Given the description of an element on the screen output the (x, y) to click on. 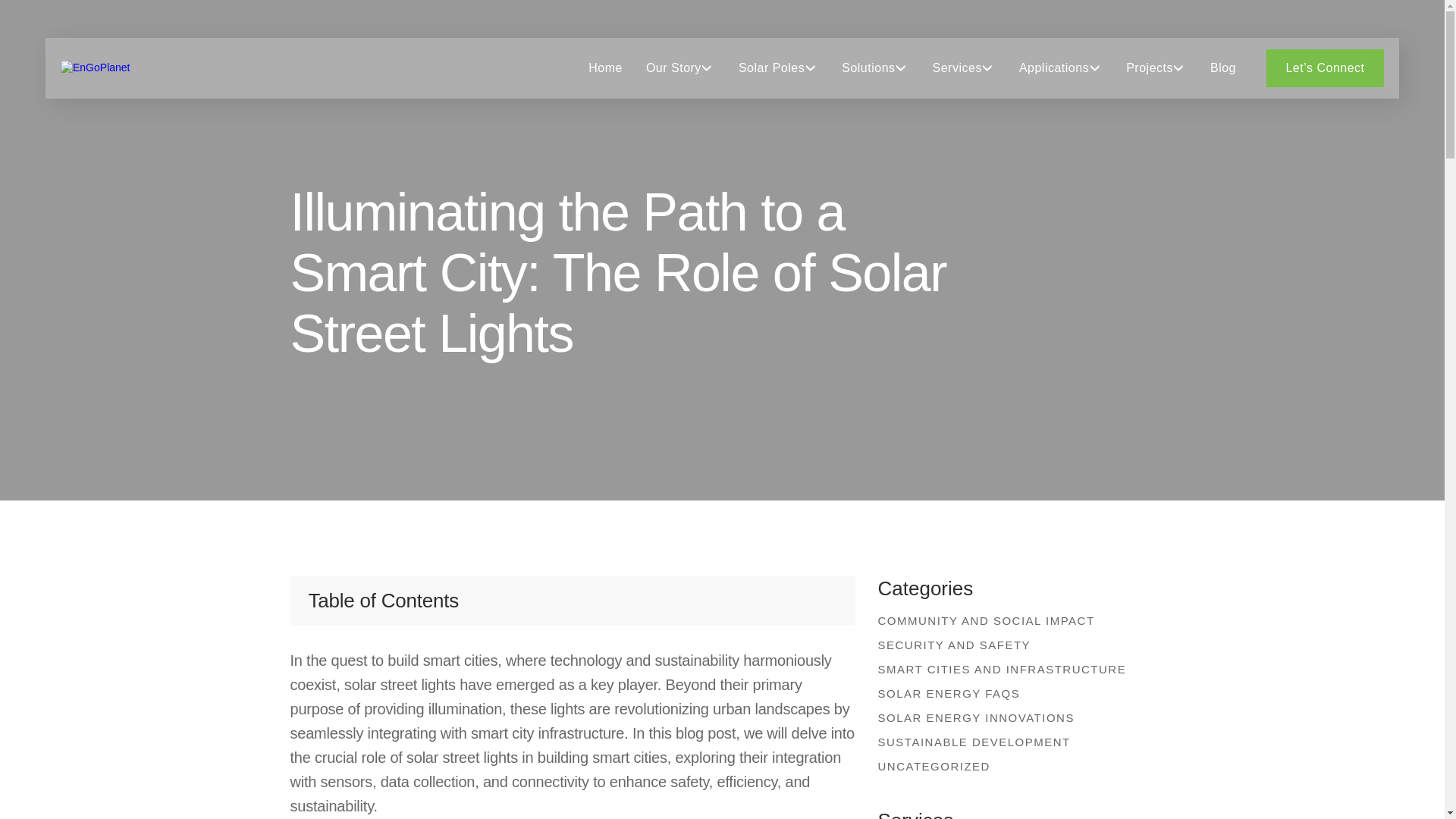
UNCATEGORIZED (1009, 766)
COMMUNITY AND SOCIAL IMPACT (1009, 621)
SUSTAINABLE DEVELOPMENT (1009, 742)
SMART CITIES AND INFRASTRUCTURE (1009, 669)
SECURITY AND SAFETY (1009, 645)
Solar Poles (771, 67)
Our Story (673, 67)
SOLAR ENERGY INNOVATIONS (1009, 717)
SOLAR ENERGY FAQS (1009, 693)
Applications (1054, 67)
